Given the description of an element on the screen output the (x, y) to click on. 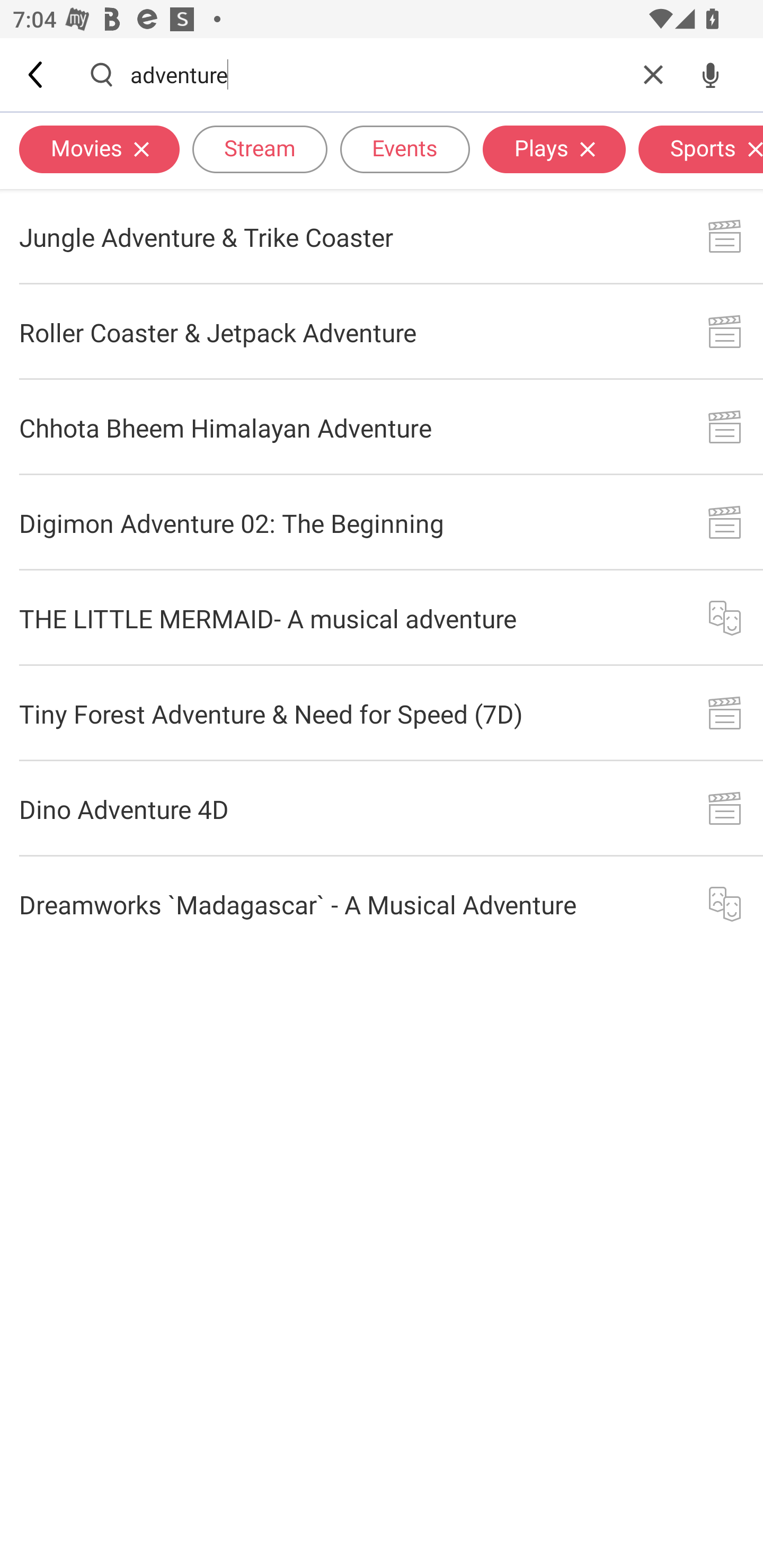
Back (36, 74)
adventure (377, 74)
Clear (653, 74)
Movies Clear (99, 148)
Stream (259, 148)
Events (405, 148)
Plays Clear (553, 148)
Sports Clear (700, 148)
Jungle Adventure & Trike Coaster (381, 236)
Roller Coaster & Jetpack Adventure (381, 331)
Chhota Bheem Himalayan Adventure (381, 427)
Digimon Adventure 02: The Beginning (381, 522)
THE LITTLE MERMAID- A musical adventure (381, 618)
Tiny Forest Adventure & Need for Speed (7D) (381, 713)
Dino Adventure 4D (381, 808)
Dreamworks `Madagascar` - A Musical Adventure (381, 903)
